Given the description of an element on the screen output the (x, y) to click on. 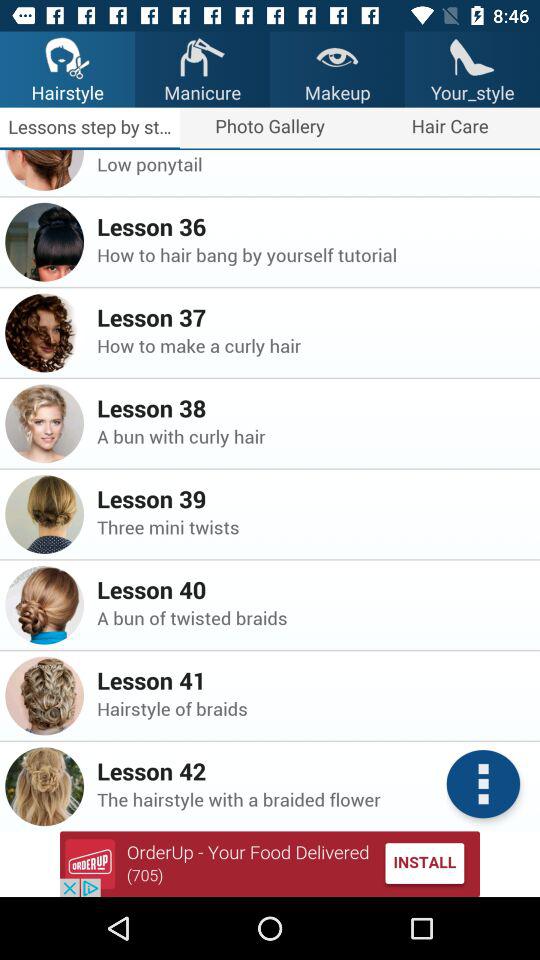
press the icon above the the hairstyle with (311, 771)
